Given the description of an element on the screen output the (x, y) to click on. 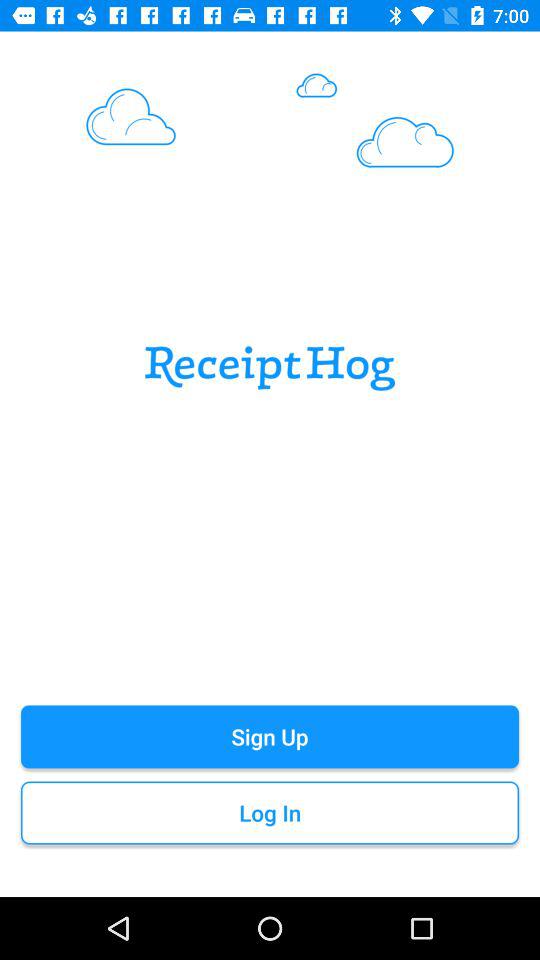
swipe until the sign up icon (270, 736)
